Given the description of an element on the screen output the (x, y) to click on. 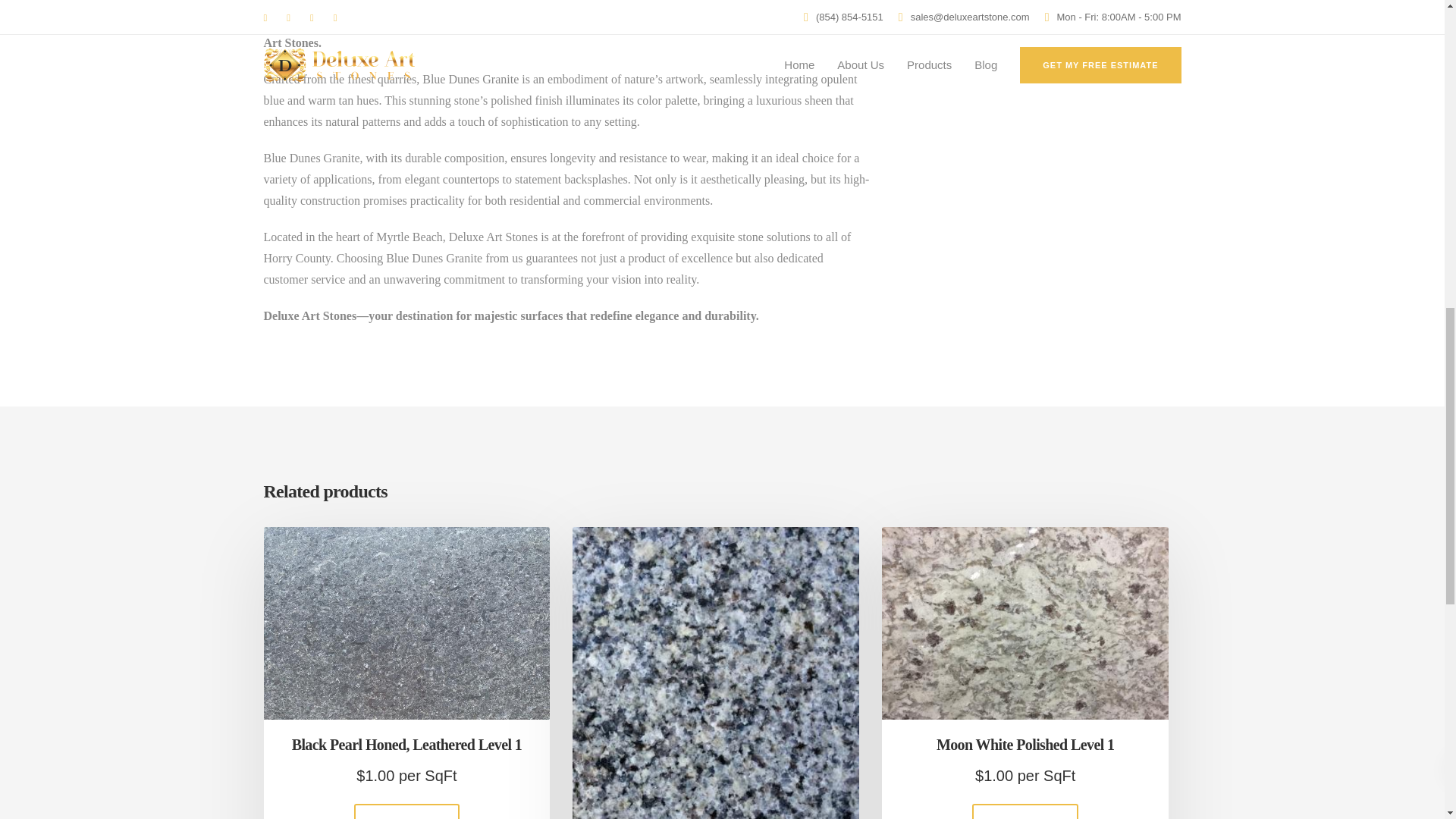
Black Pearl Honed, Leathered Level 1 (406, 747)
ADD TO CART (406, 811)
